Given the description of an element on the screen output the (x, y) to click on. 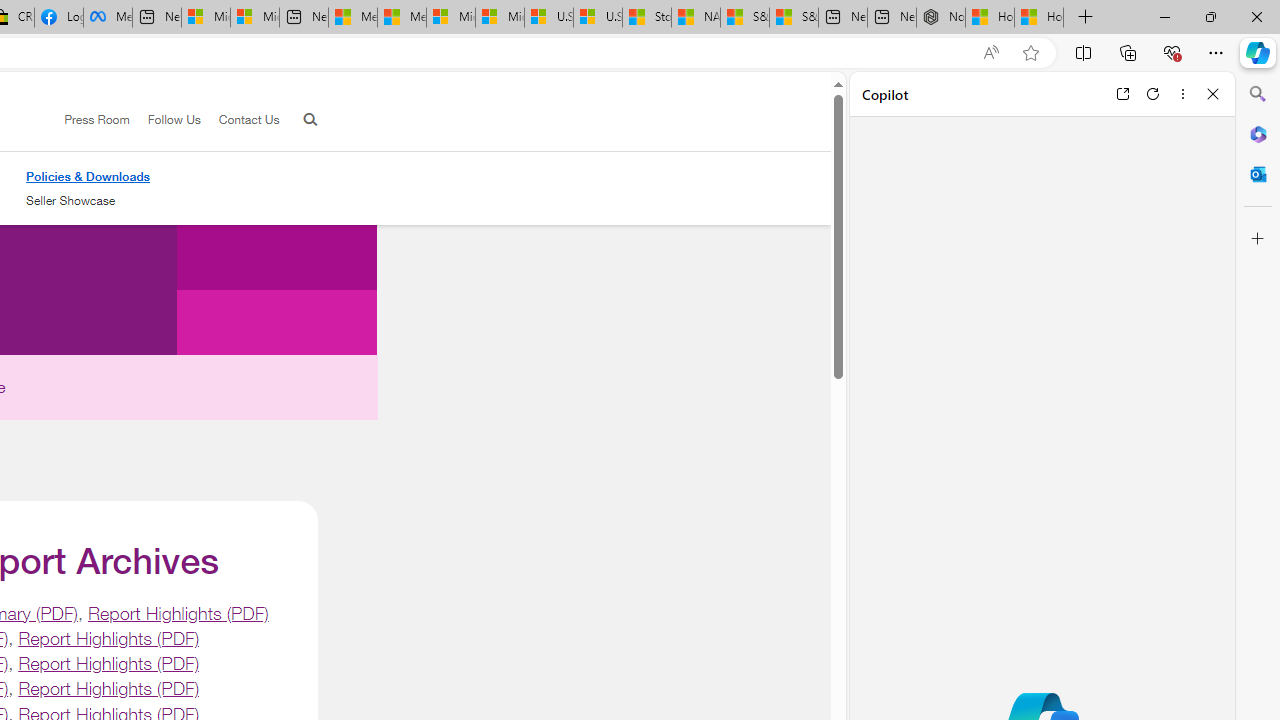
Report Highlights (PDF) (107, 688)
Follow Us (173, 119)
Policies & Downloads (88, 176)
